Given the description of an element on the screen output the (x, y) to click on. 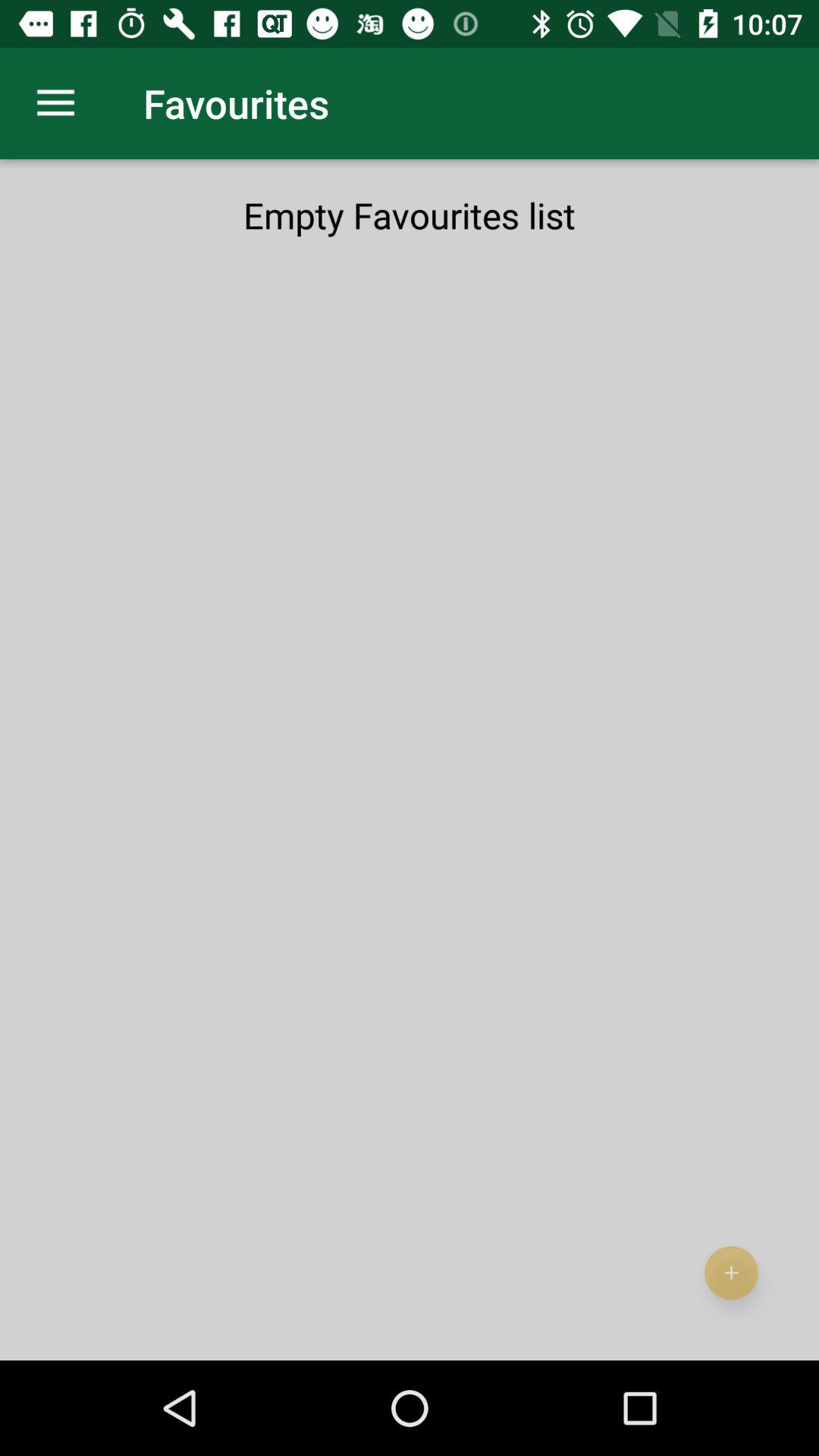
press item to the left of favourites item (55, 103)
